Given the description of an element on the screen output the (x, y) to click on. 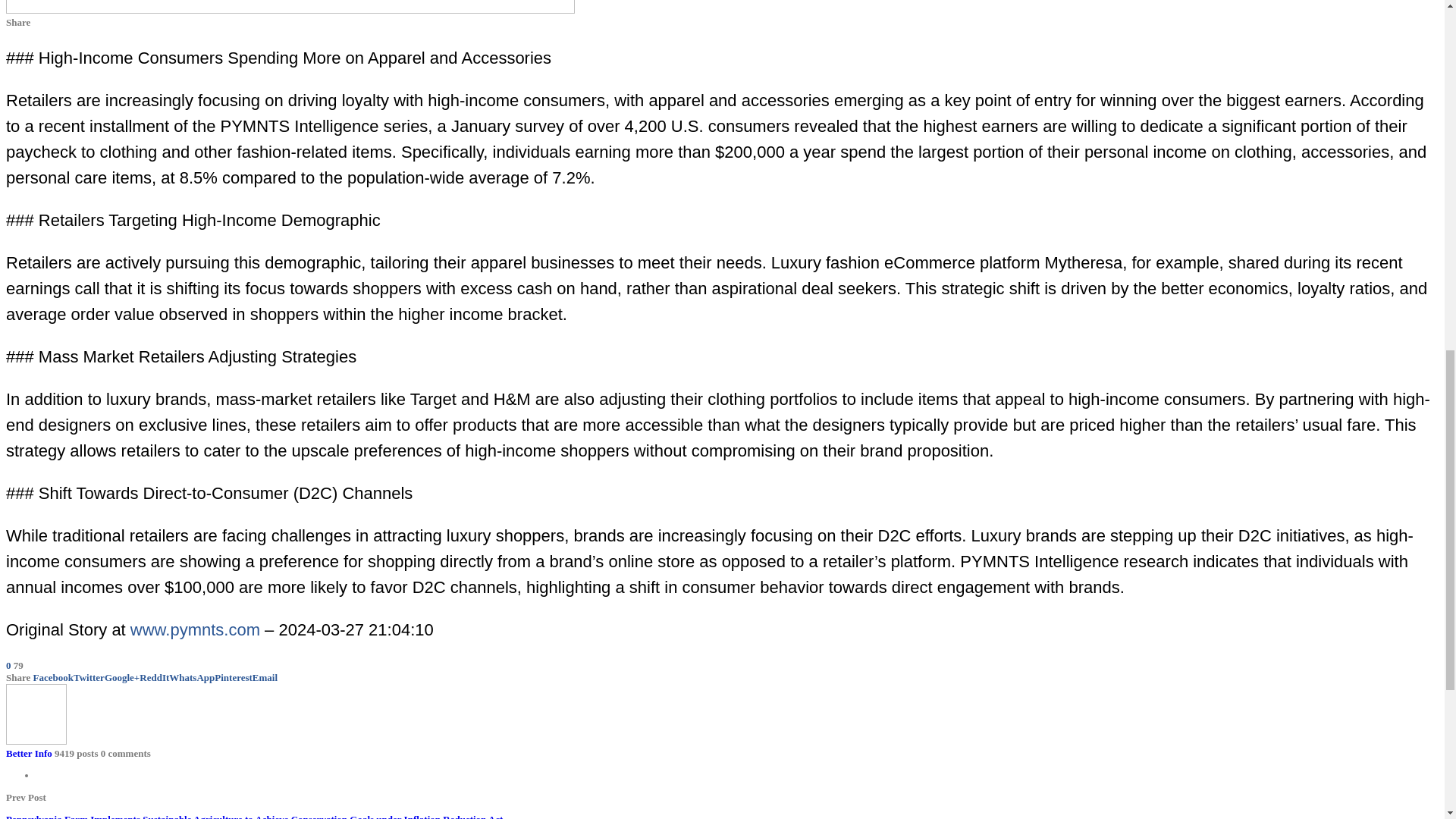
Twitter (89, 677)
Facebook (53, 677)
www.pymnts.com (195, 629)
WhatsApp (191, 677)
Browse Author Articles (35, 740)
Email (264, 677)
Pinterest (232, 677)
ReddIt (153, 677)
